Given the description of an element on the screen output the (x, y) to click on. 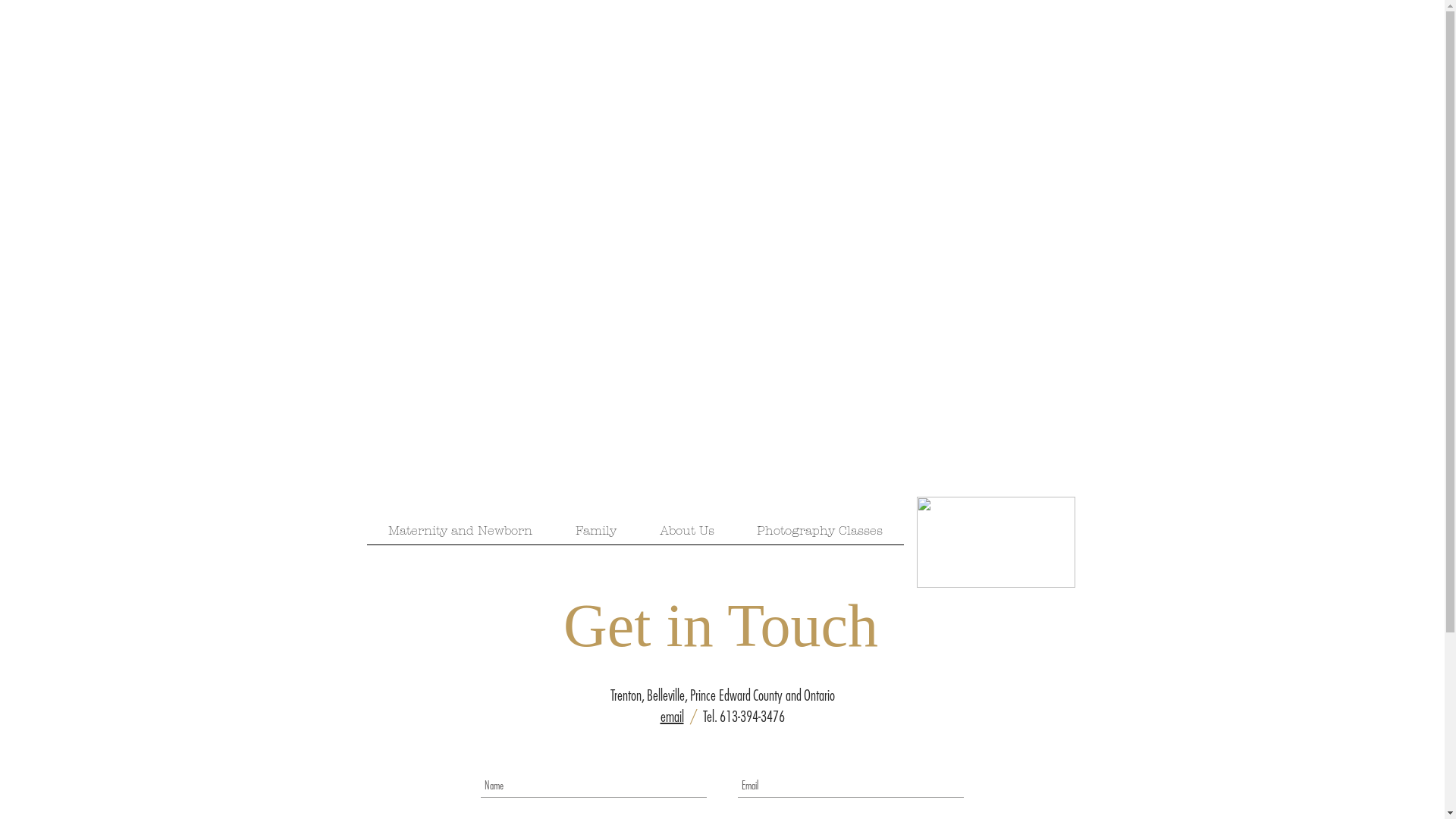
Maternity and Newborn Element type: text (460, 535)
About Us Element type: text (686, 535)
Family Element type: text (595, 535)
email Element type: text (671, 715)
Photography Classes Element type: text (819, 535)
